Given the description of an element on the screen output the (x, y) to click on. 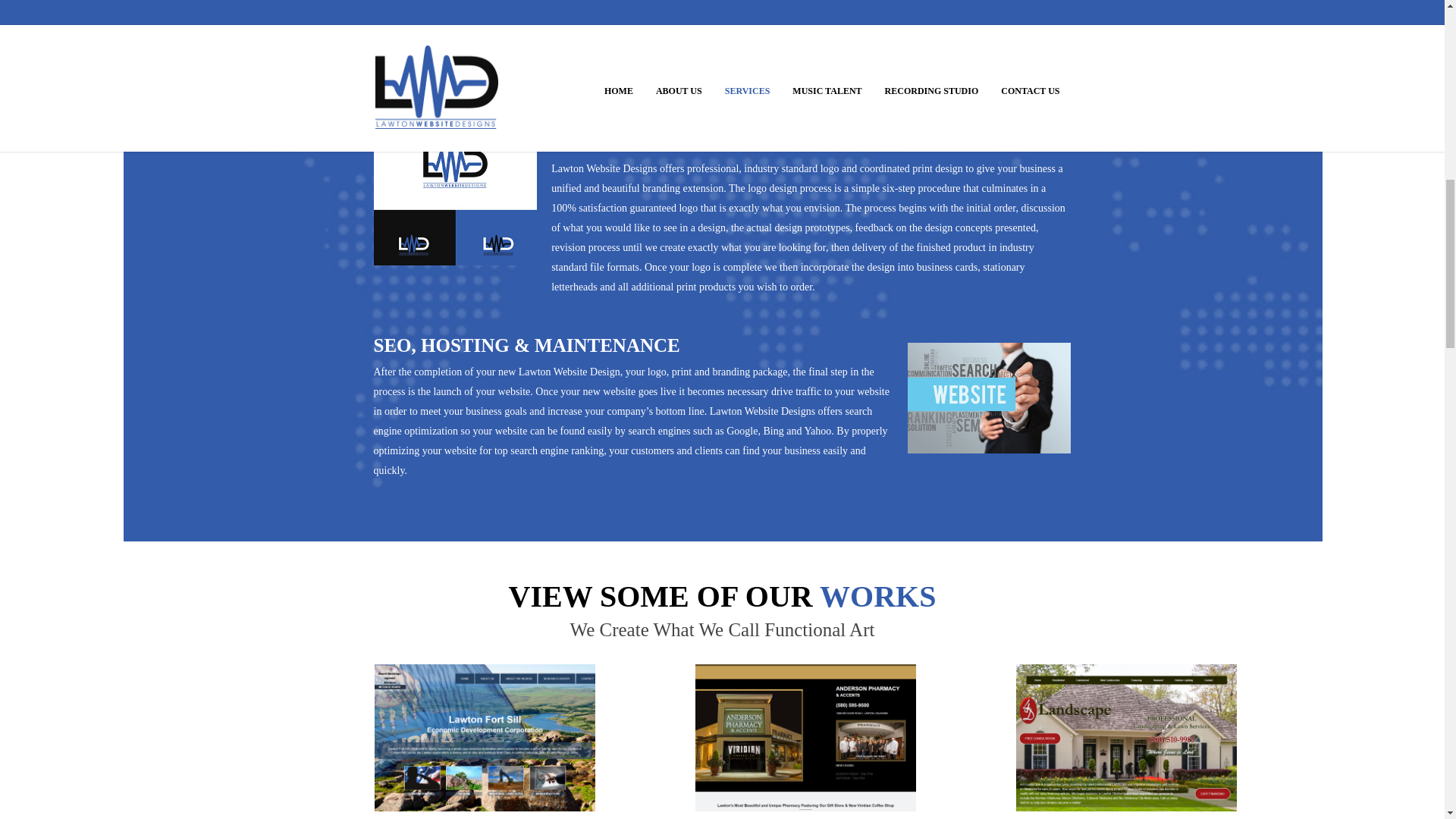
CLIENT 1 (484, 737)
CLIENT 2 (805, 737)
CLIENT 3 (1126, 737)
